Given the description of an element on the screen output the (x, y) to click on. 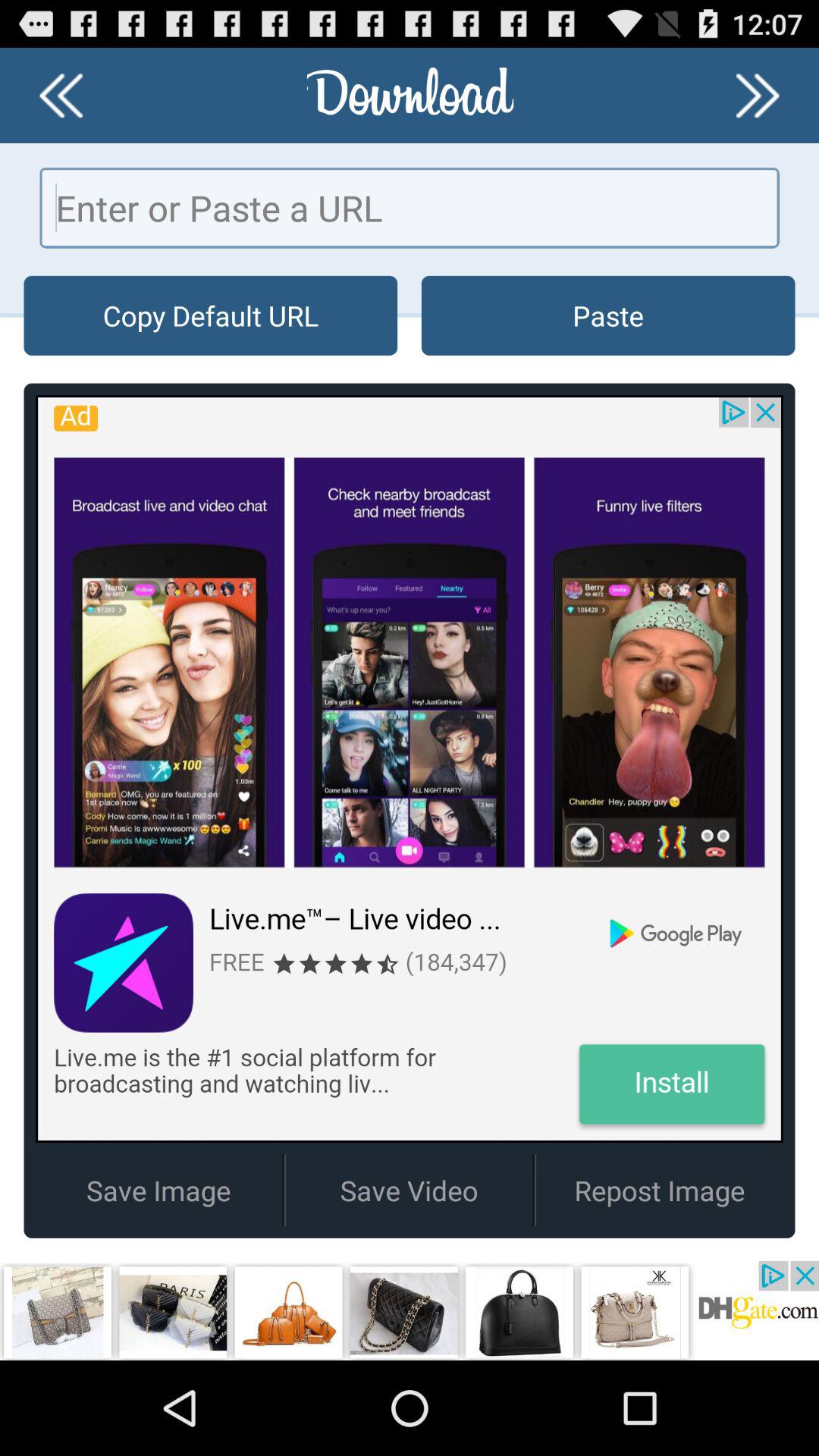
going to next page option (757, 95)
